Given the description of an element on the screen output the (x, y) to click on. 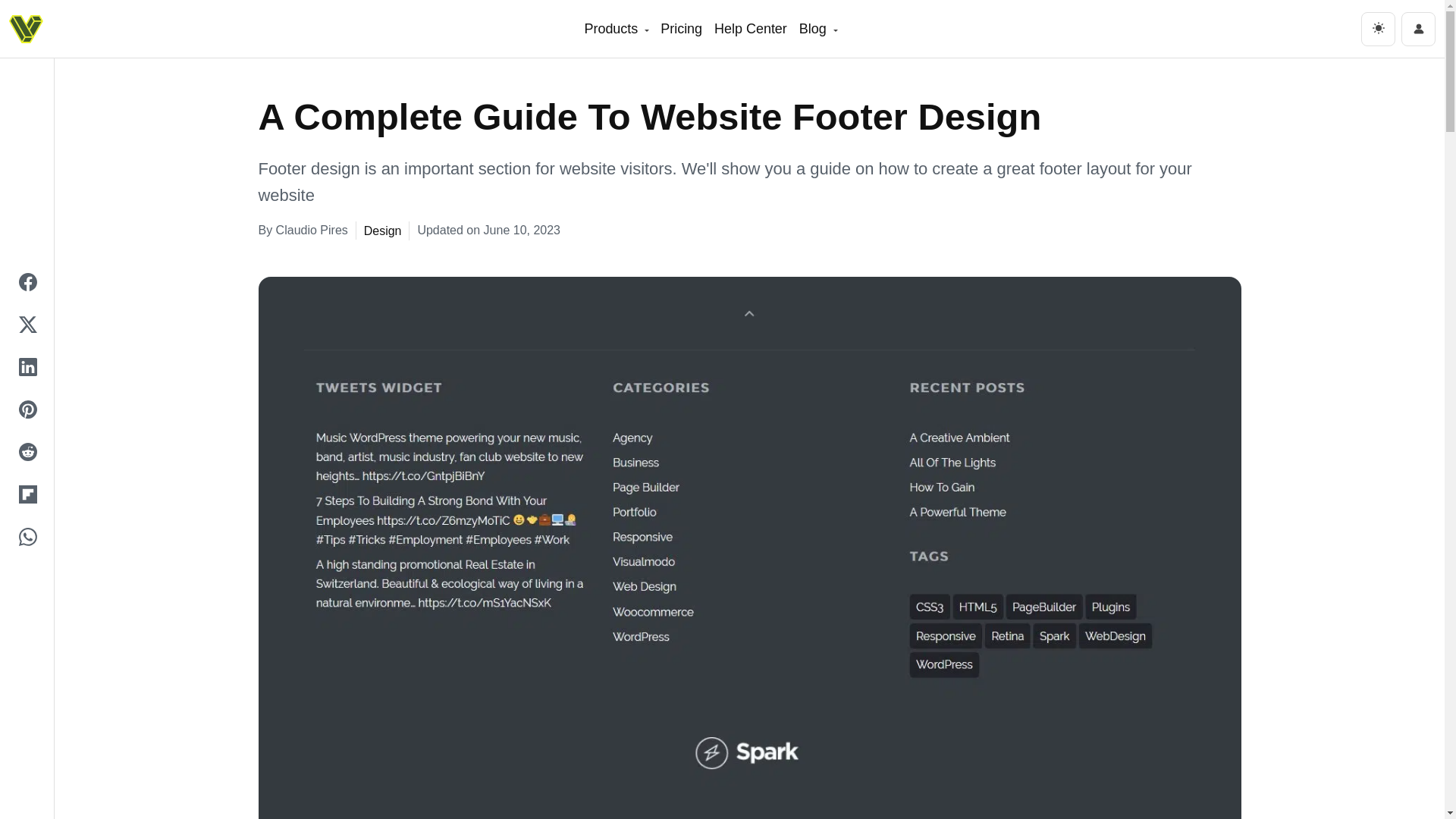
Blog (818, 28)
Help Center (750, 28)
Account (1417, 28)
Products (615, 28)
Products (615, 28)
Help Center (750, 28)
Pricing (680, 28)
Design (378, 230)
Blog (818, 28)
Pricing (680, 28)
